Given the description of an element on the screen output the (x, y) to click on. 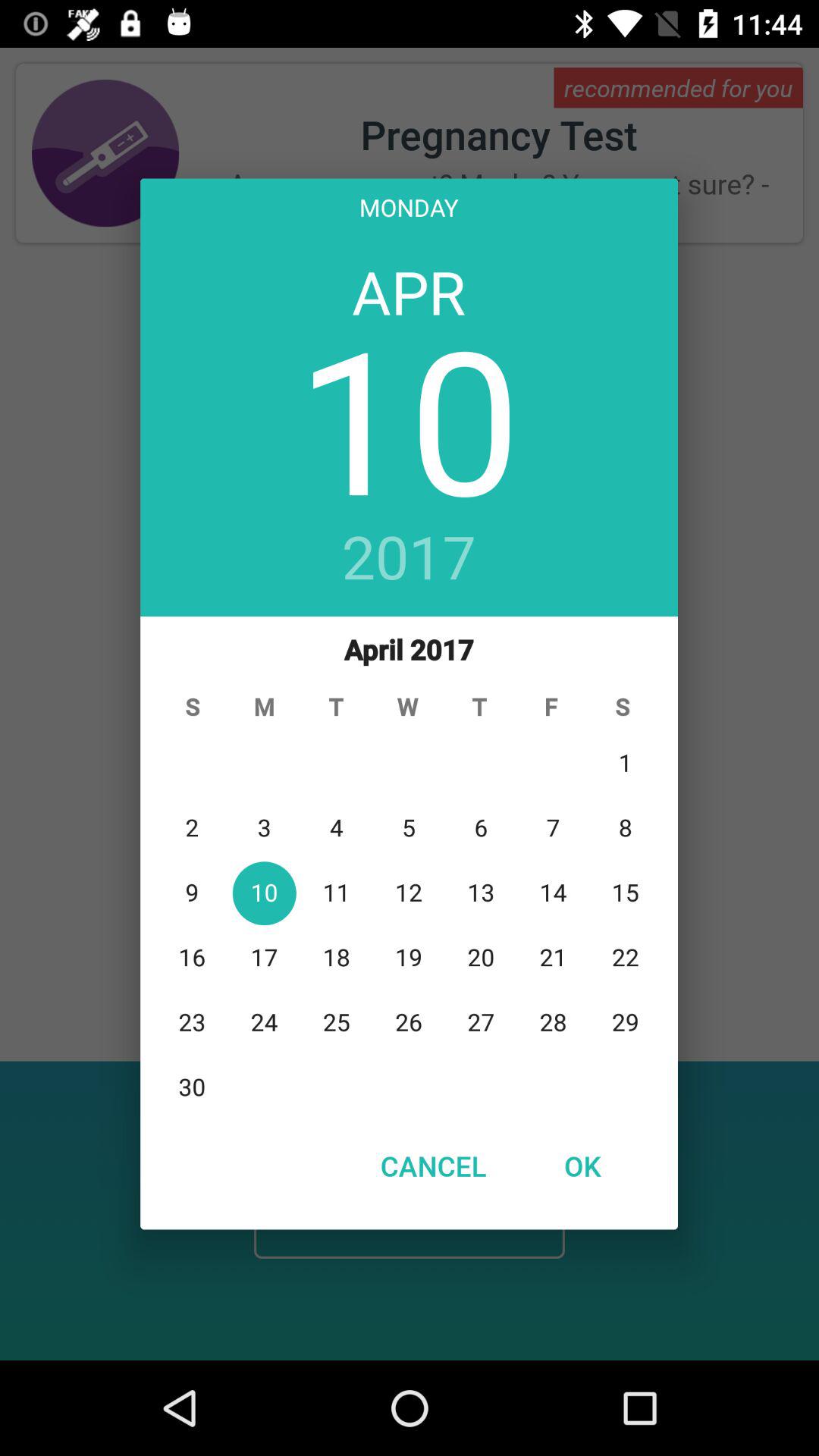
scroll to the 2017 (408, 559)
